Given the description of an element on the screen output the (x, y) to click on. 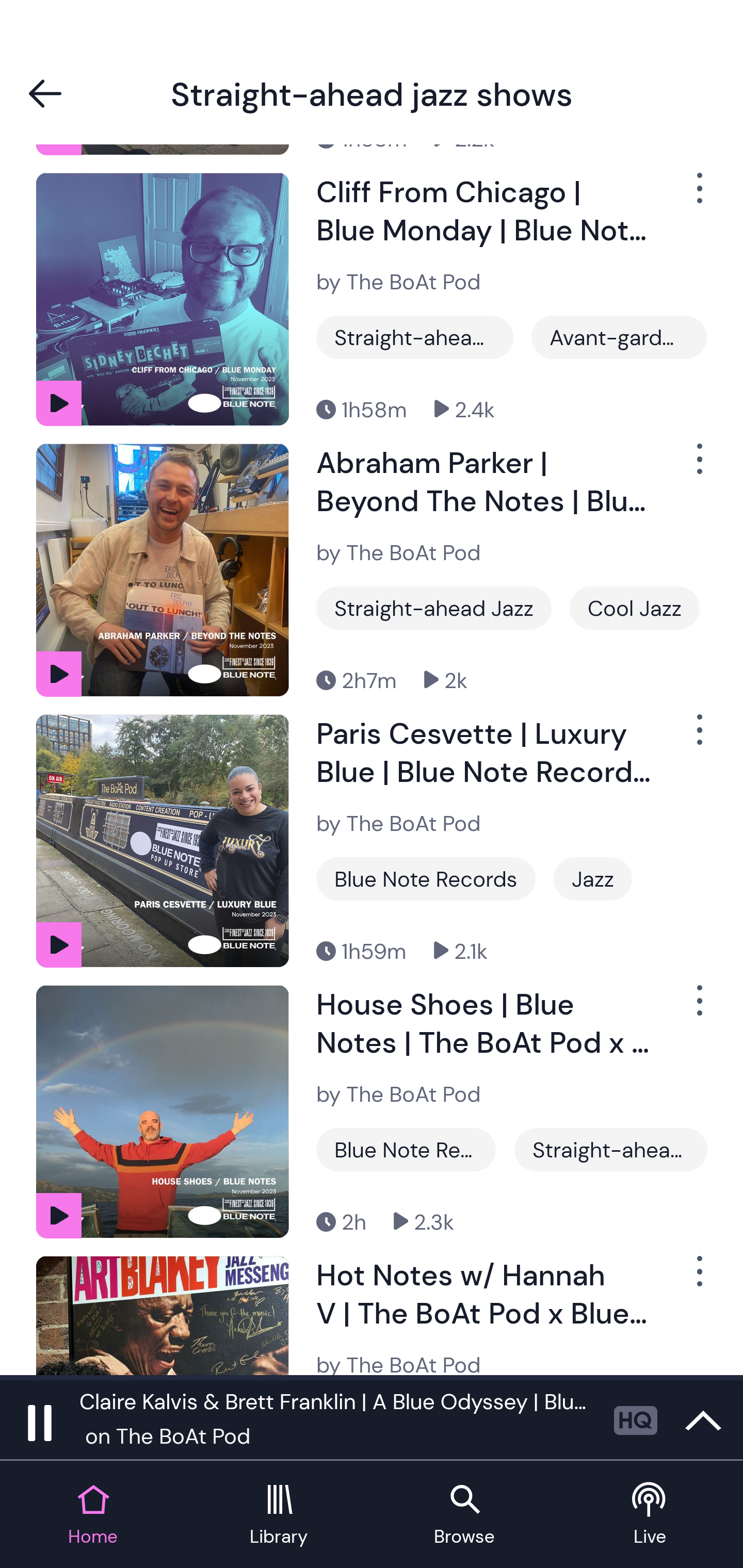
Show Options Menu Button (697, 195)
Straight-ahead Jazz (414, 337)
Avant-garde Jazz (618, 337)
Show Options Menu Button (697, 466)
Straight-ahead Jazz (433, 608)
Cool Jazz (634, 608)
Show Options Menu Button (697, 738)
Blue Note Records (425, 878)
Jazz (592, 878)
Show Options Menu Button (697, 1007)
Blue Note Records (405, 1149)
Straight-ahead Jazz (610, 1149)
Show Options Menu Button (697, 1279)
Home tab Home (92, 1515)
Library tab Library (278, 1515)
Browse tab Browse (464, 1515)
Live tab Live (650, 1515)
